Given the description of an element on the screen output the (x, y) to click on. 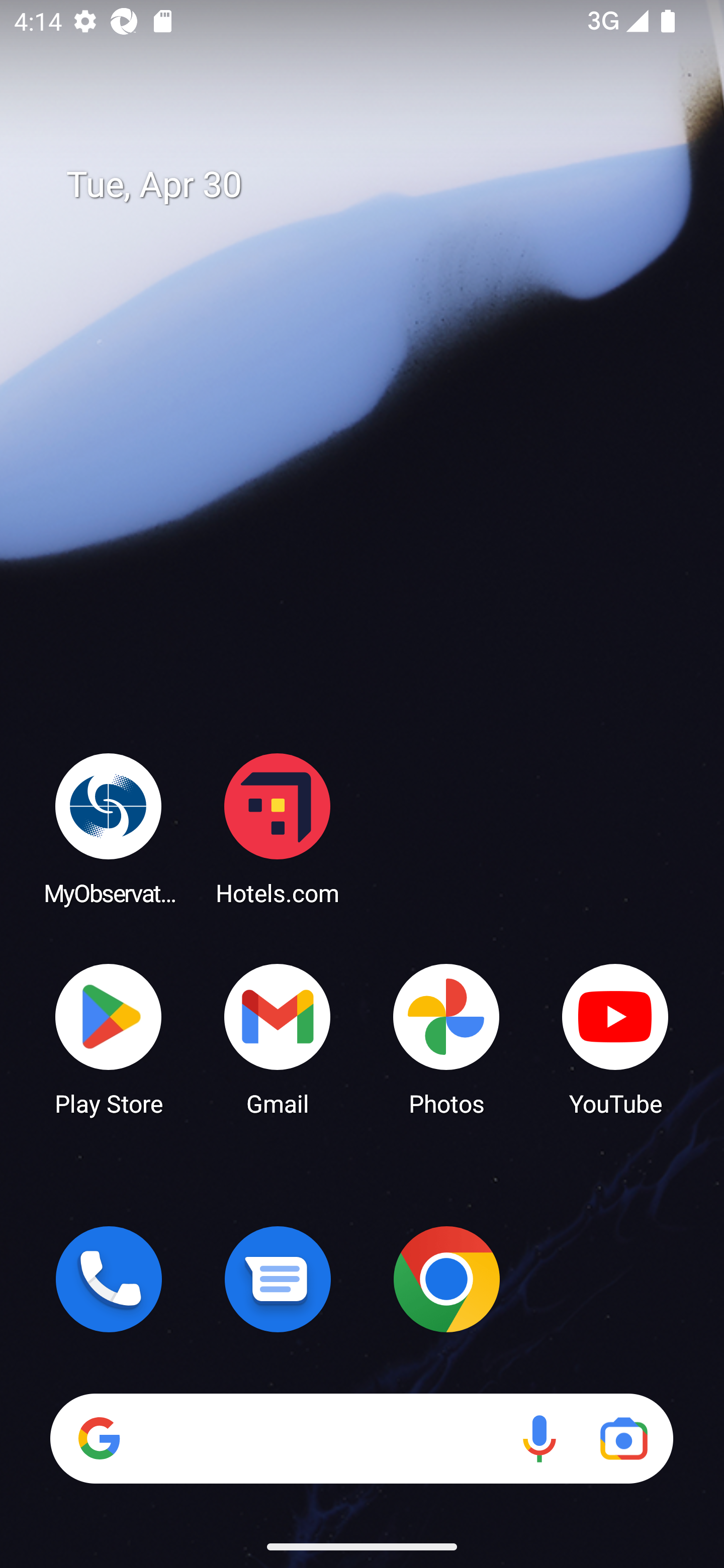
Tue, Apr 30 (375, 184)
MyObservatory (108, 828)
Hotels.com (277, 828)
Play Store (108, 1038)
Gmail (277, 1038)
Photos (445, 1038)
YouTube (615, 1038)
Phone (108, 1279)
Messages (277, 1279)
Chrome (446, 1279)
Search Voice search Google Lens (361, 1438)
Voice search (539, 1438)
Google Lens (623, 1438)
